Given the description of an element on the screen output the (x, y) to click on. 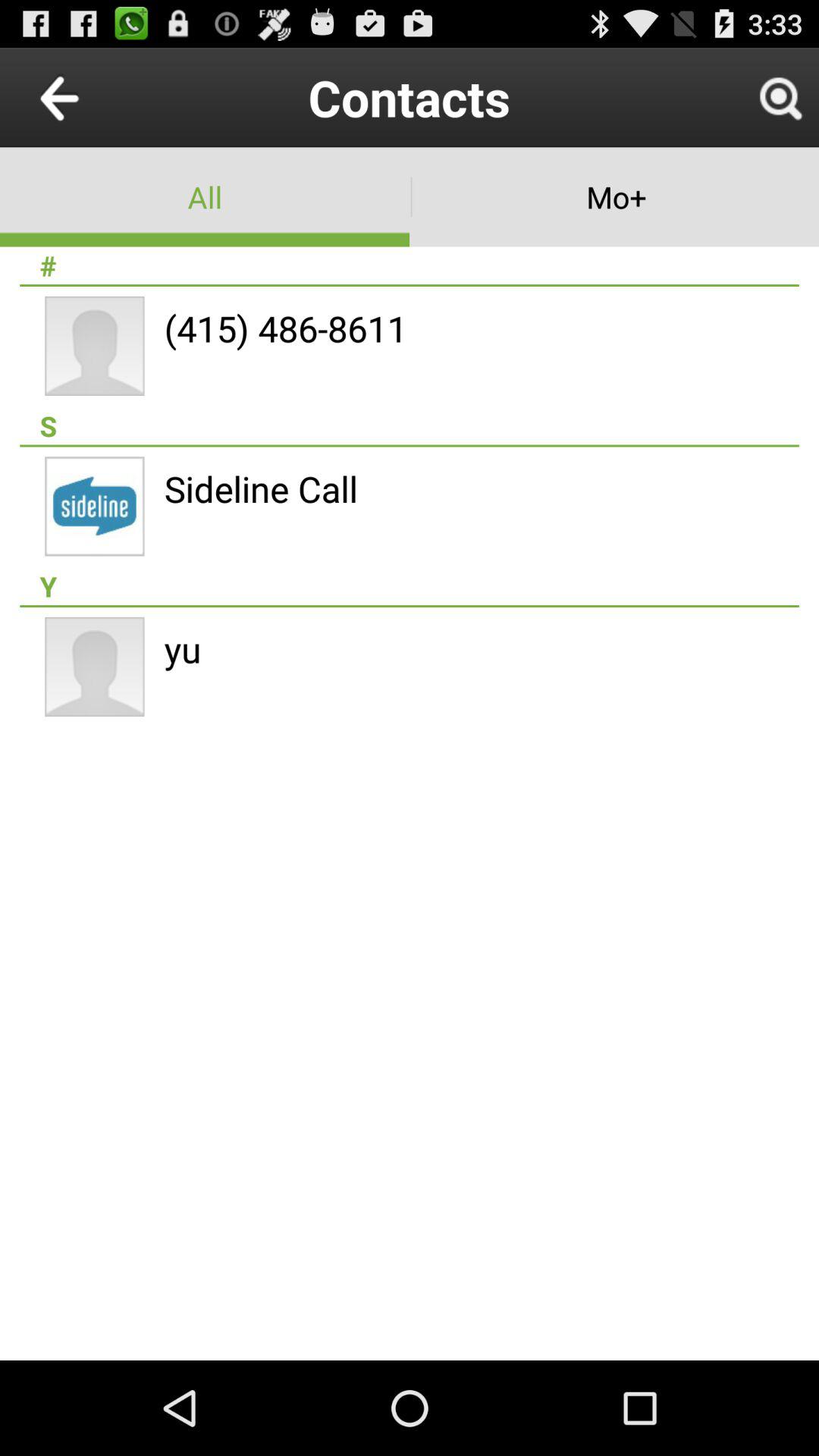
search (779, 97)
